Given the description of an element on the screen output the (x, y) to click on. 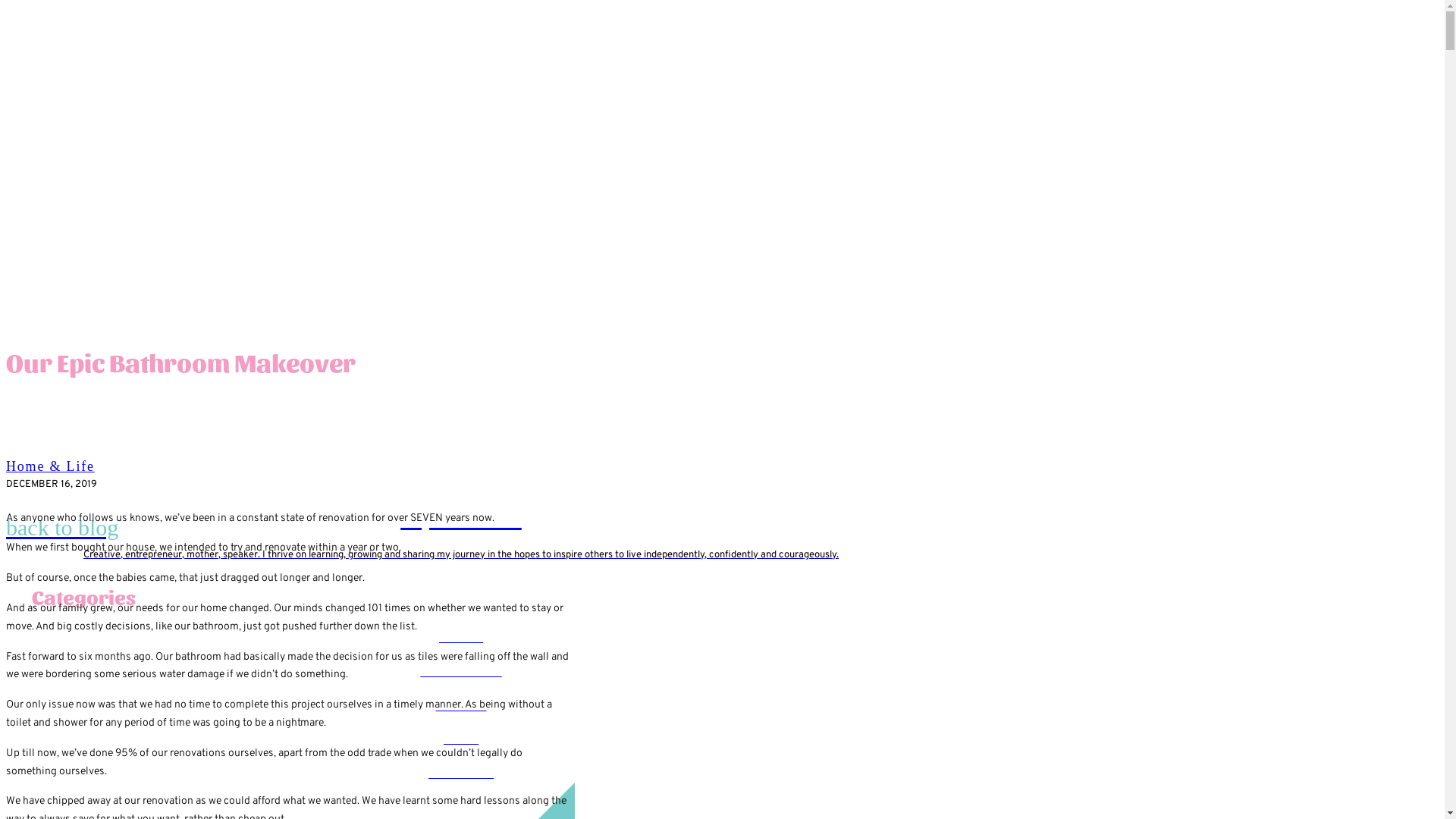
finance Element type: text (461, 638)
back to blog Element type: text (461, 526)
confidence Element type: text (461, 773)
Home & Life Element type: text (50, 465)
business Element type: text (461, 706)
home & LIFE Element type: text (461, 672)
Hi, I'm olivia Element type: text (461, 518)
travel Element type: text (461, 739)
